Given the description of an element on the screen output the (x, y) to click on. 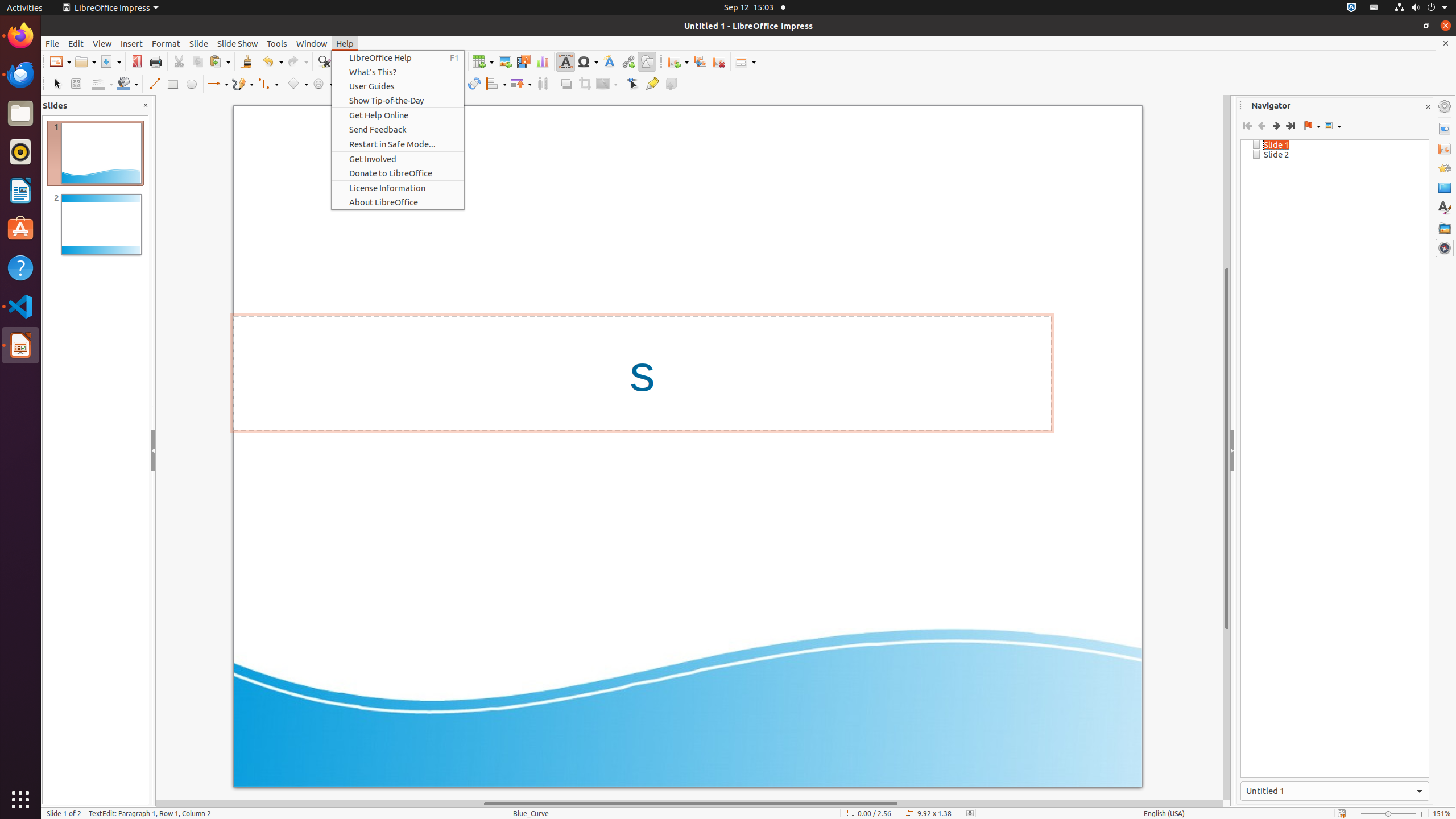
Get Help Online Element type: menu-item (397, 115)
Animation Element type: radio-button (1444, 168)
Vertical scroll bar Element type: scroll-bar (1226, 447)
Line Element type: push-button (153, 83)
Slide Show Element type: menu (237, 43)
